Given the description of an element on the screen output the (x, y) to click on. 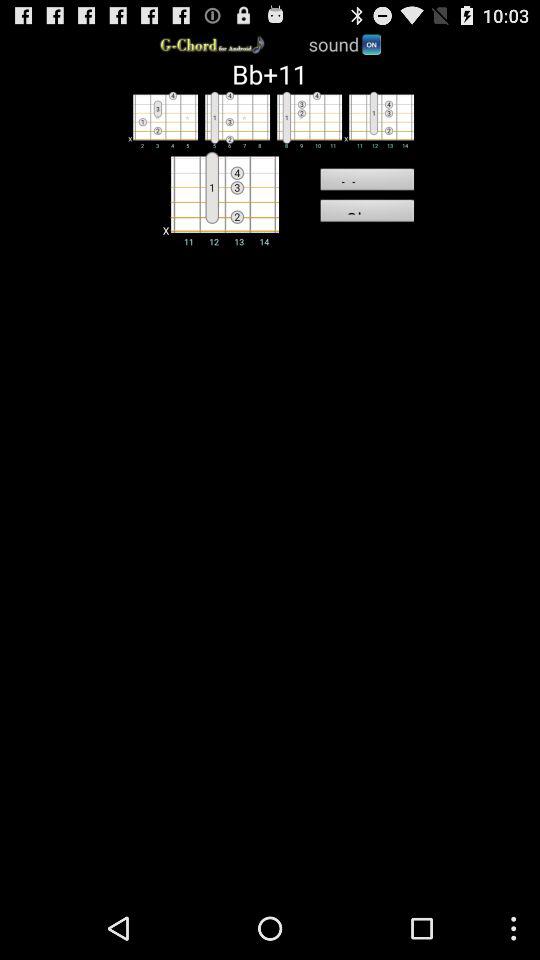
view image (234, 119)
